Given the description of an element on the screen output the (x, y) to click on. 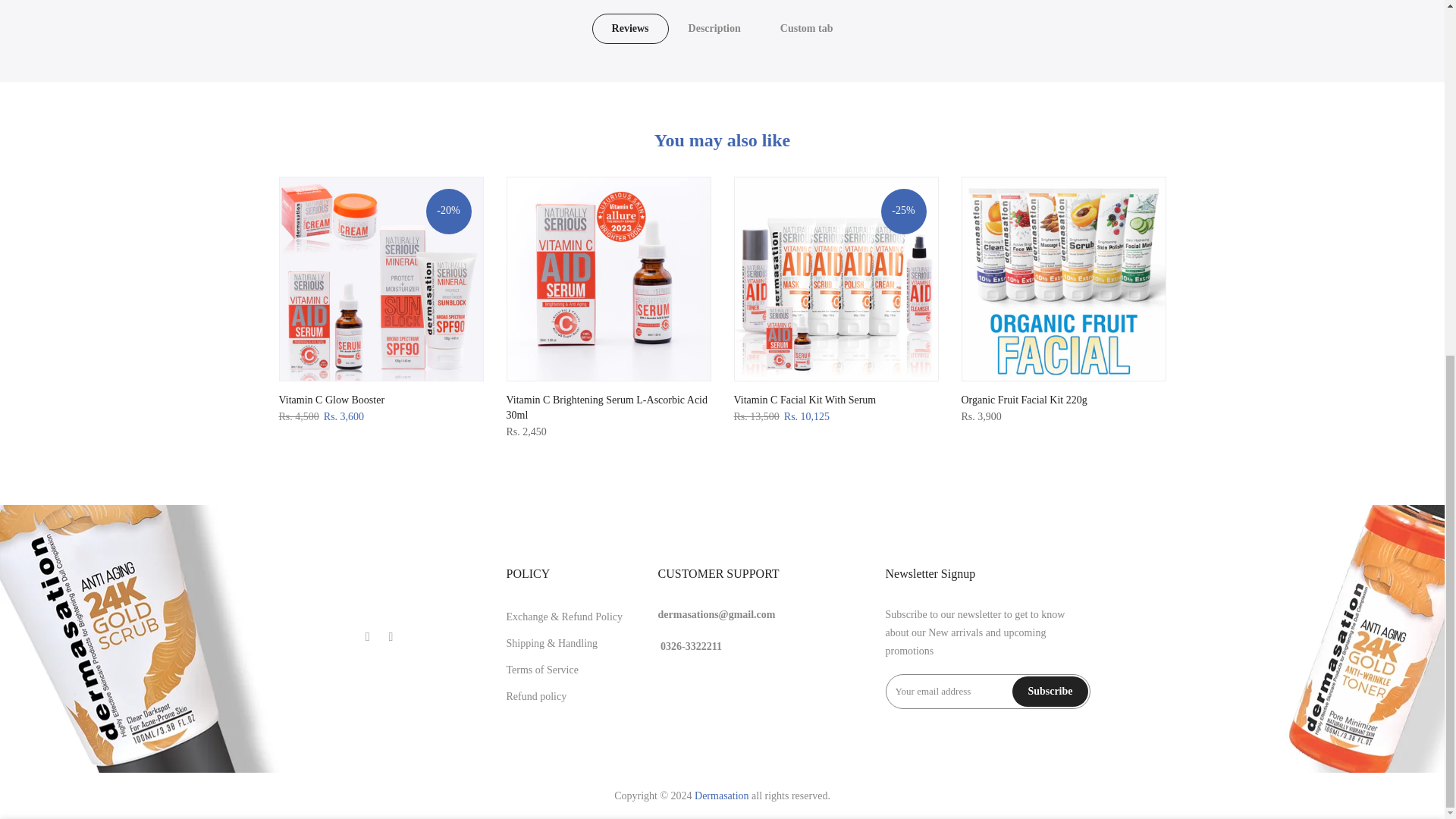
Reviews (630, 28)
1 (1001, 231)
Vitamin C Glow Booster (332, 399)
Description (714, 28)
Vitamin C Facial Kit With Serum (804, 399)
Vitamin C Brightening Serum L-Ascorbic Acid 30ml (606, 406)
Custom tab (806, 28)
